Given the description of an element on the screen output the (x, y) to click on. 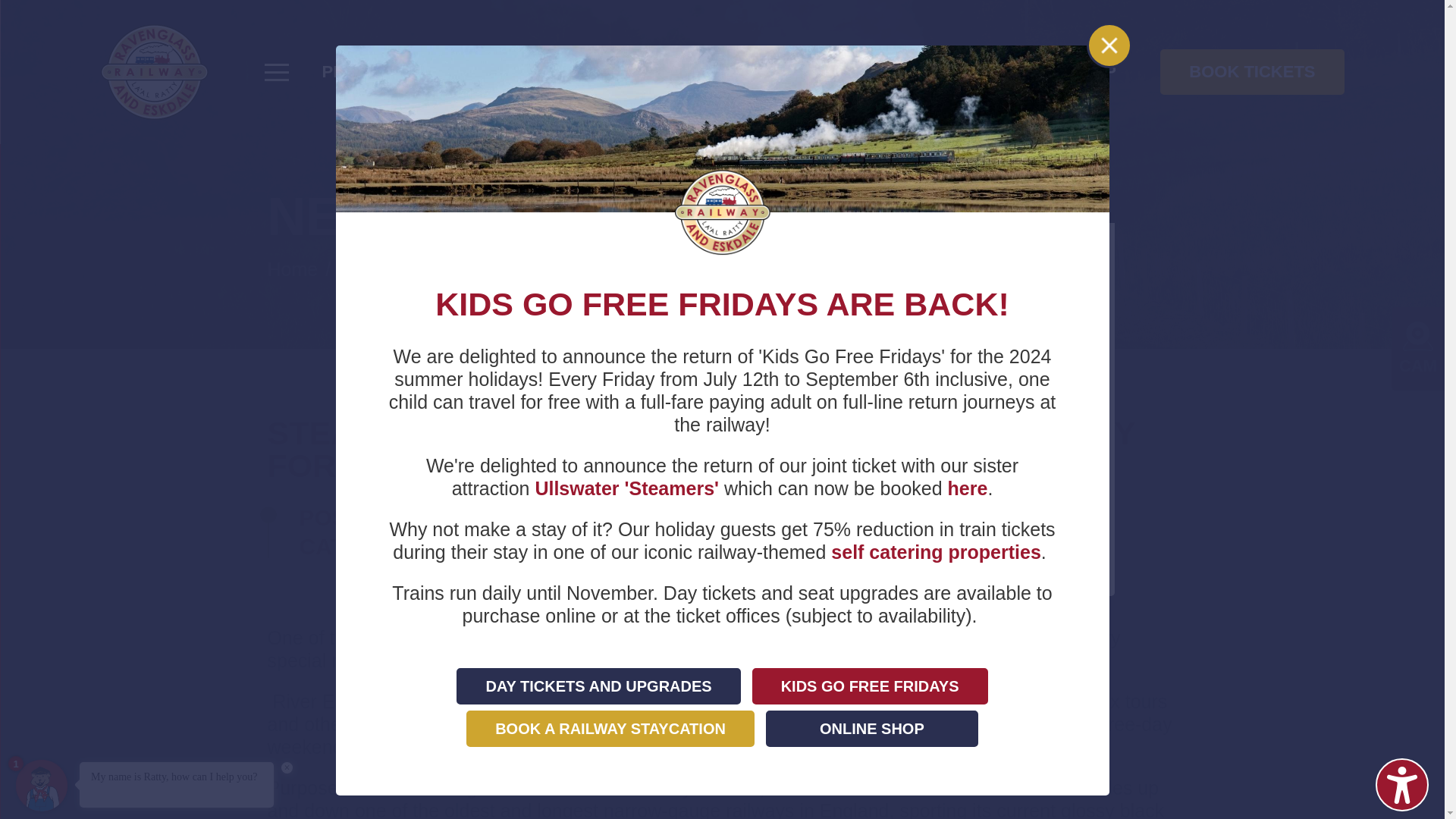
GIFT EXPERIENCES (957, 71)
Webcam (1417, 336)
Close (1108, 44)
SHOP (1092, 71)
STAYING OVER (779, 71)
GROUPS (546, 71)
PLAN YOUR VISIT (397, 71)
EVENTS (650, 71)
